Given the description of an element on the screen output the (x, y) to click on. 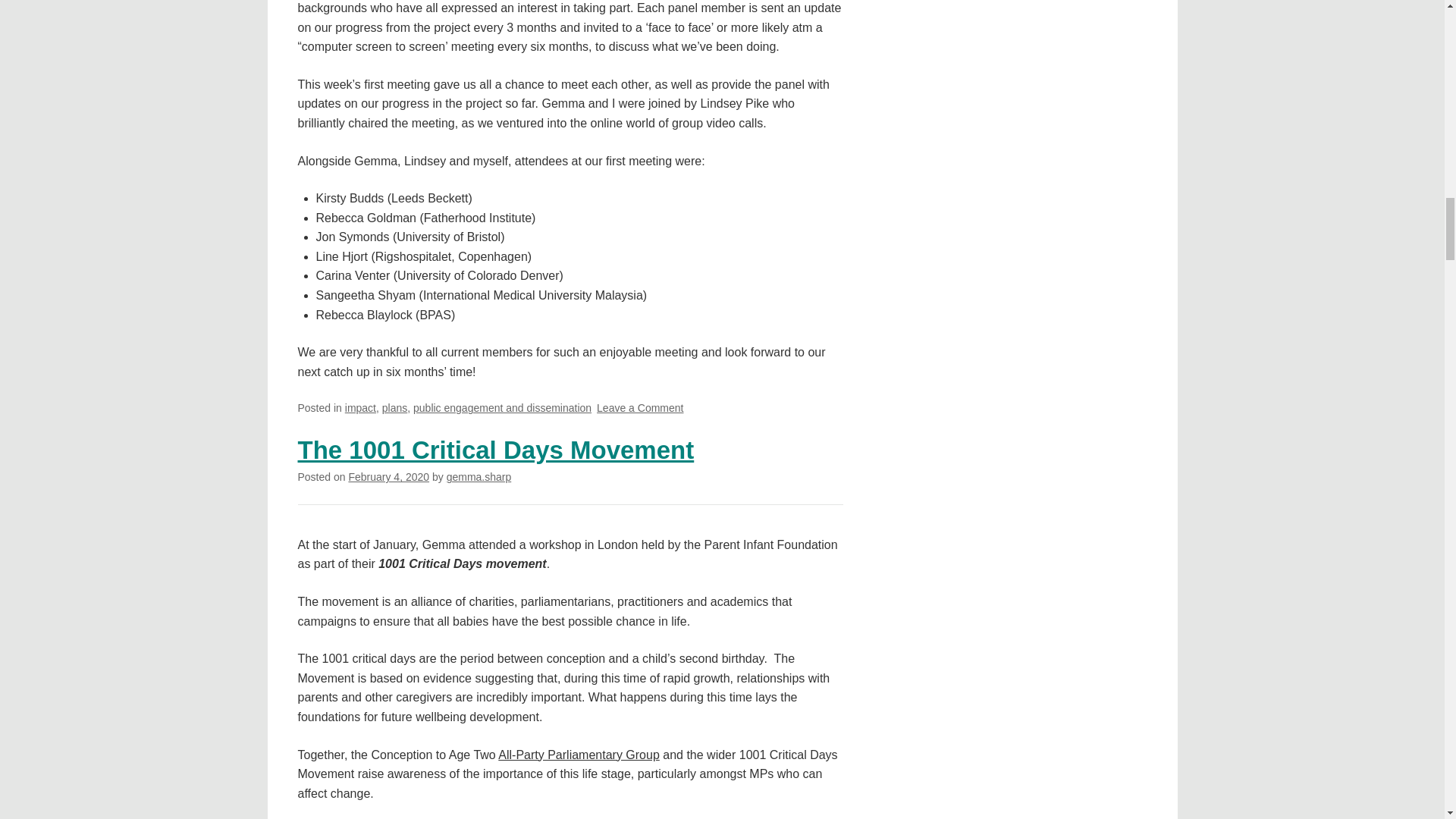
public engagement and dissemination (502, 408)
impact (360, 408)
plans (394, 408)
